Given the description of an element on the screen output the (x, y) to click on. 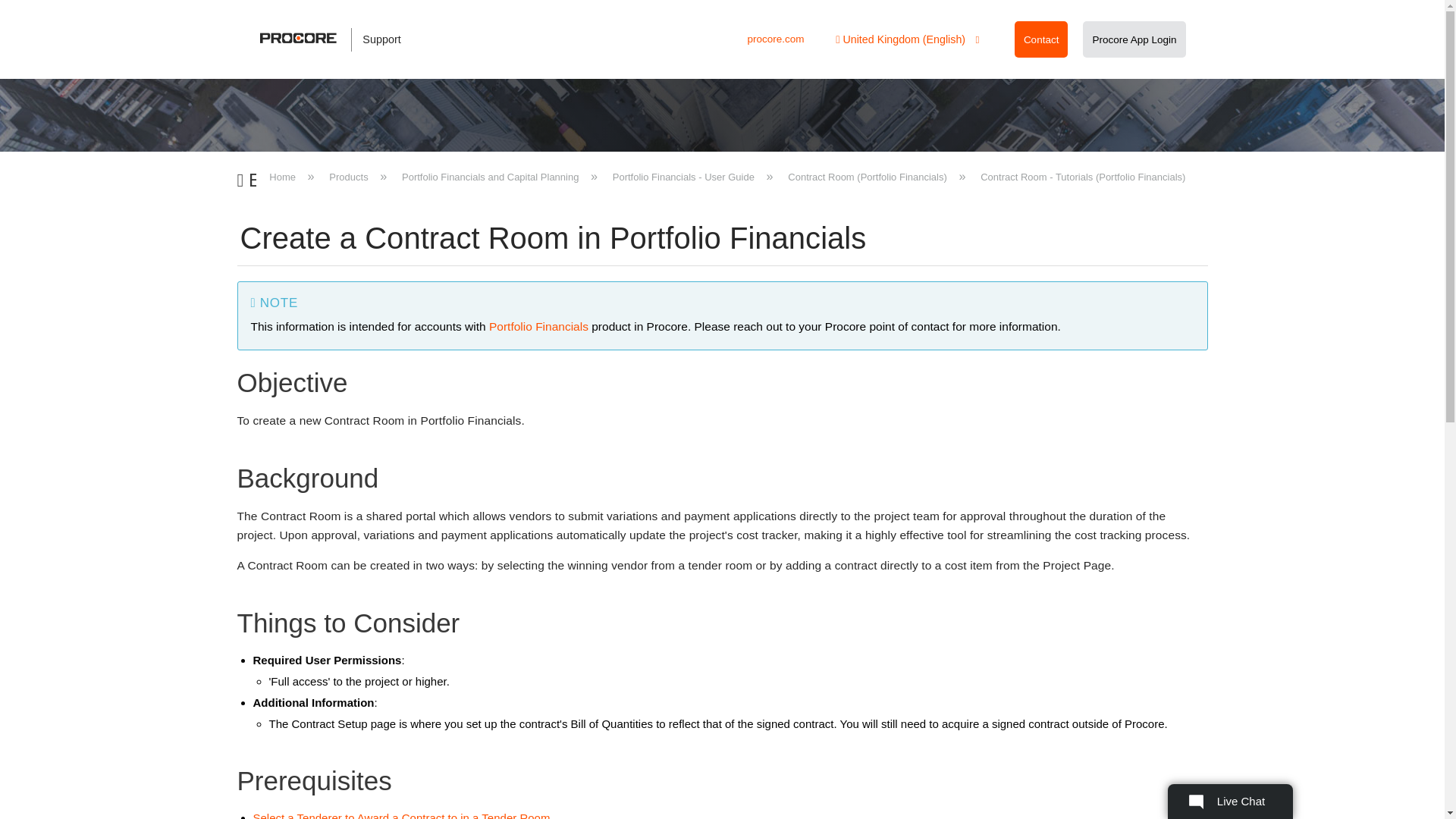
procore.com (774, 39)
Select a Tenderer to Award a Contract to in a Tender Room (401, 815)
Support (338, 38)
Procore App Login (1134, 39)
Contact (1041, 39)
Portfolio Financials and Capital Planning (489, 176)
Home (283, 176)
Products (348, 176)
Live Chat (1229, 801)
Portfolio Financials - User Guide (683, 176)
